Given the description of an element on the screen output the (x, y) to click on. 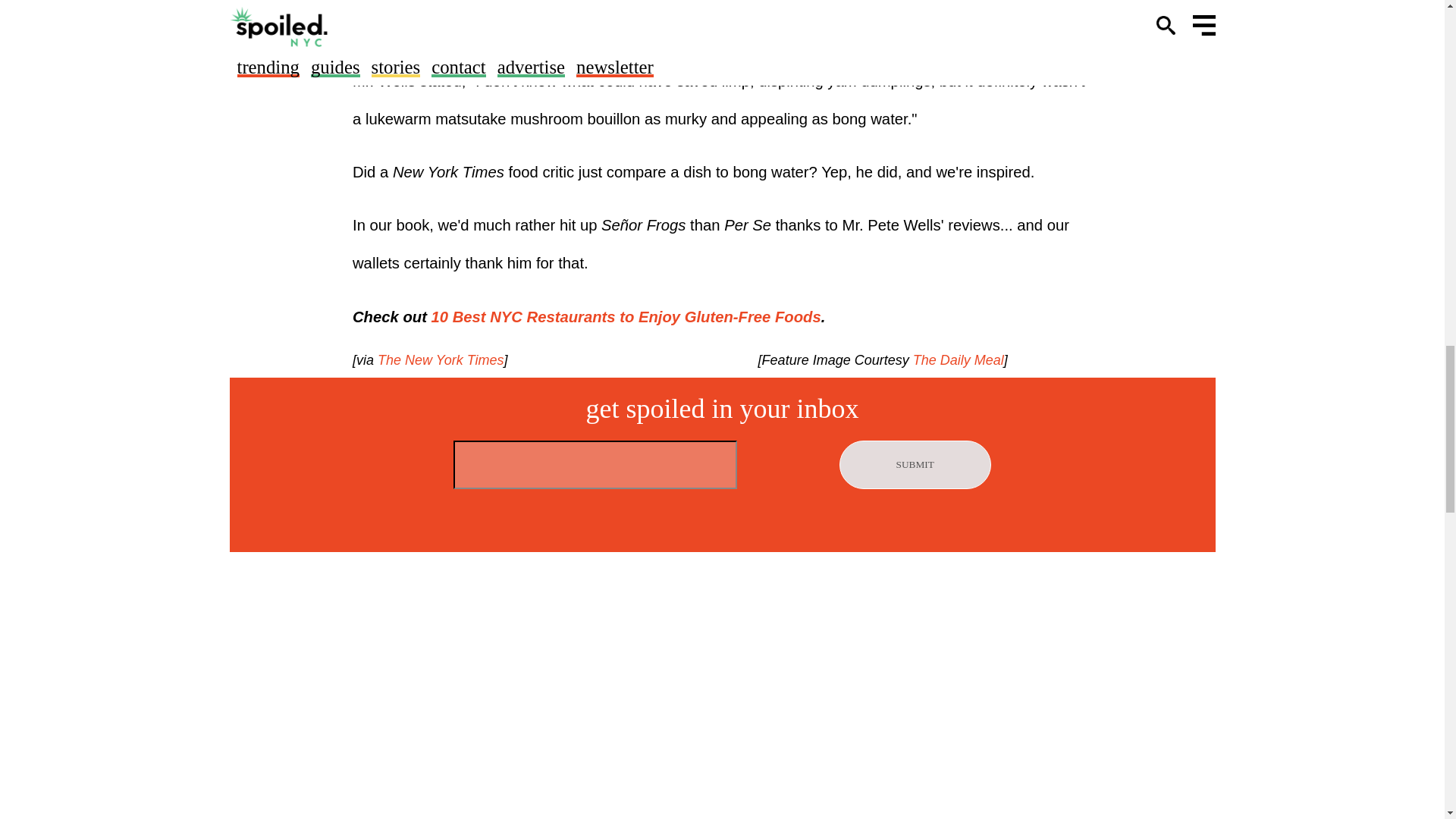
SUBMIT (915, 464)
The Daily Meal (956, 359)
10 Best NYC Restaurants to Enjoy Gluten-Free Foods (625, 315)
The New York Times (438, 359)
